Given the description of an element on the screen output the (x, y) to click on. 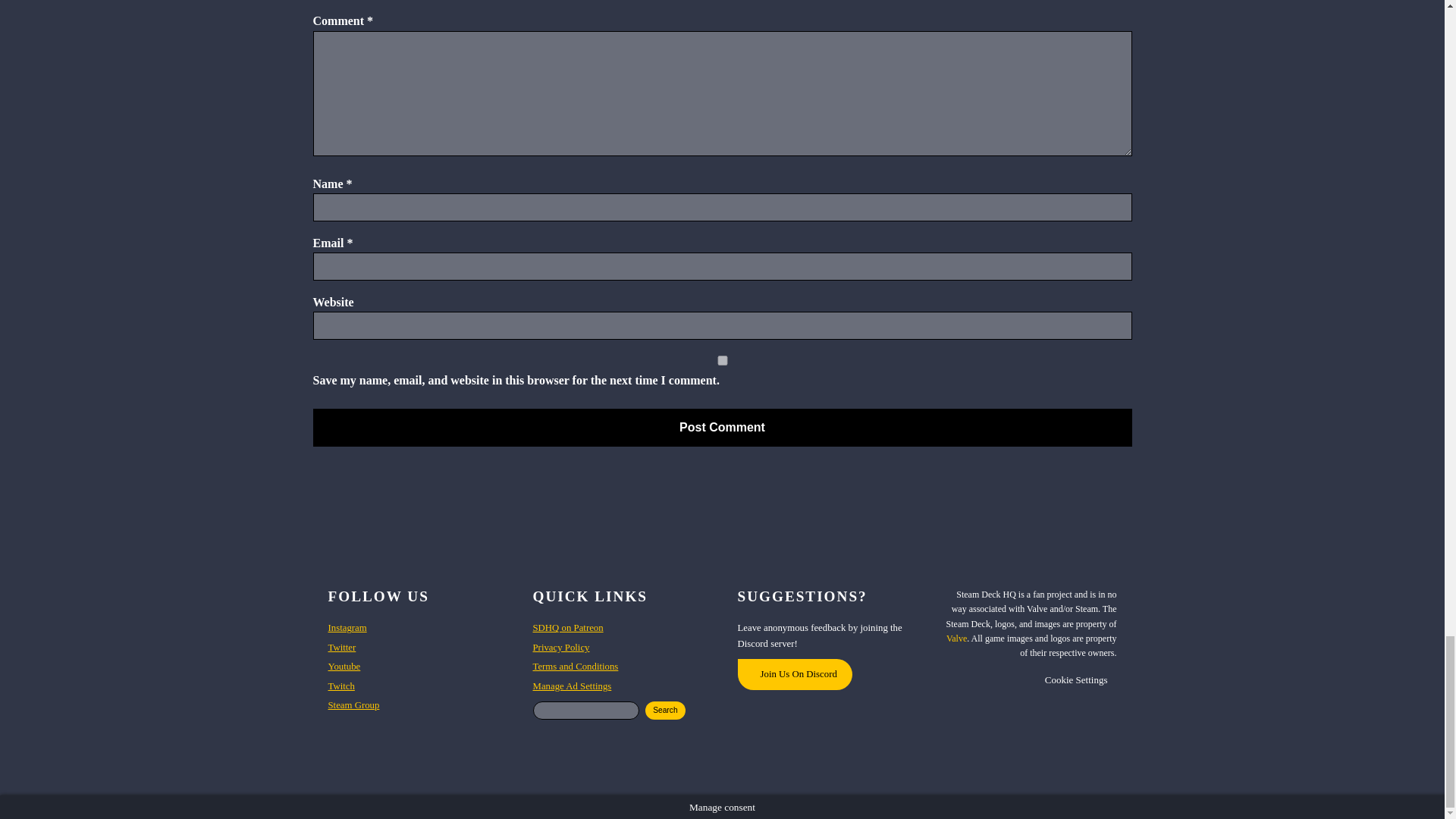
Instagram (346, 627)
Twitter (341, 647)
Twitch (340, 685)
Post Comment (722, 427)
Steam Group (352, 704)
Post Comment (722, 427)
Youtube (343, 666)
yes (722, 360)
Search (665, 710)
